Given the description of an element on the screen output the (x, y) to click on. 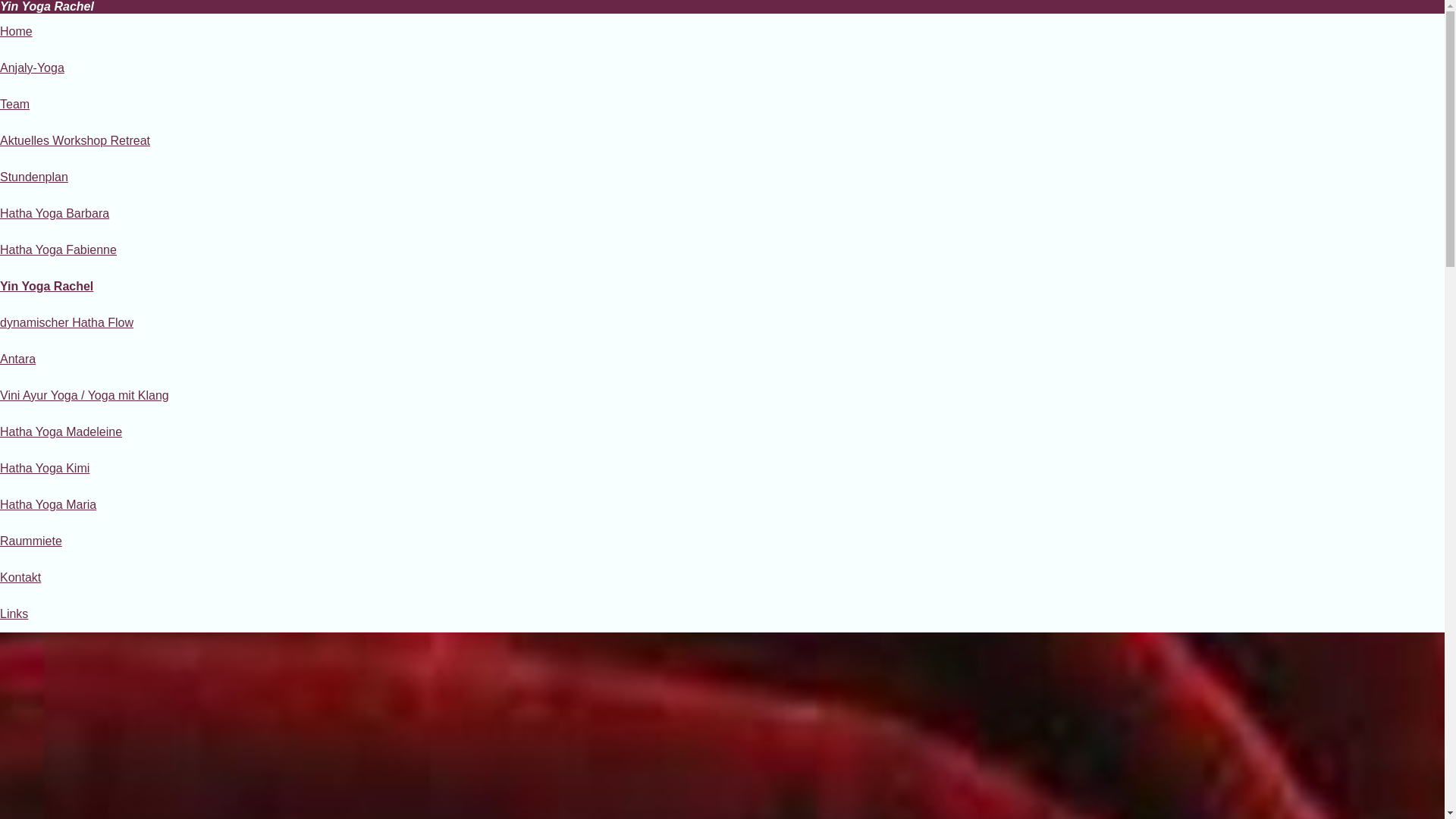
Raummiete Element type: text (31, 540)
Hatha Yoga Fabienne Element type: text (58, 249)
Home Element type: text (16, 31)
Hatha Yoga Madeleine Element type: text (61, 431)
Vini Ayur Yoga / Yoga mit Klang Element type: text (84, 395)
Links Element type: text (14, 613)
Stundenplan Element type: text (34, 176)
Hatha Yoga Maria Element type: text (48, 504)
dynamischer Hatha Flow Element type: text (66, 322)
Kontakt Element type: text (20, 577)
Hatha Yoga Kimi Element type: text (44, 467)
Hatha Yoga Barbara Element type: text (54, 213)
Yin Yoga Rachel Element type: text (46, 285)
Aktuelles Workshop Retreat Element type: text (75, 140)
Anjaly-Yoga Element type: text (32, 67)
Team Element type: text (14, 103)
Antara Element type: text (17, 358)
